Given the description of an element on the screen output the (x, y) to click on. 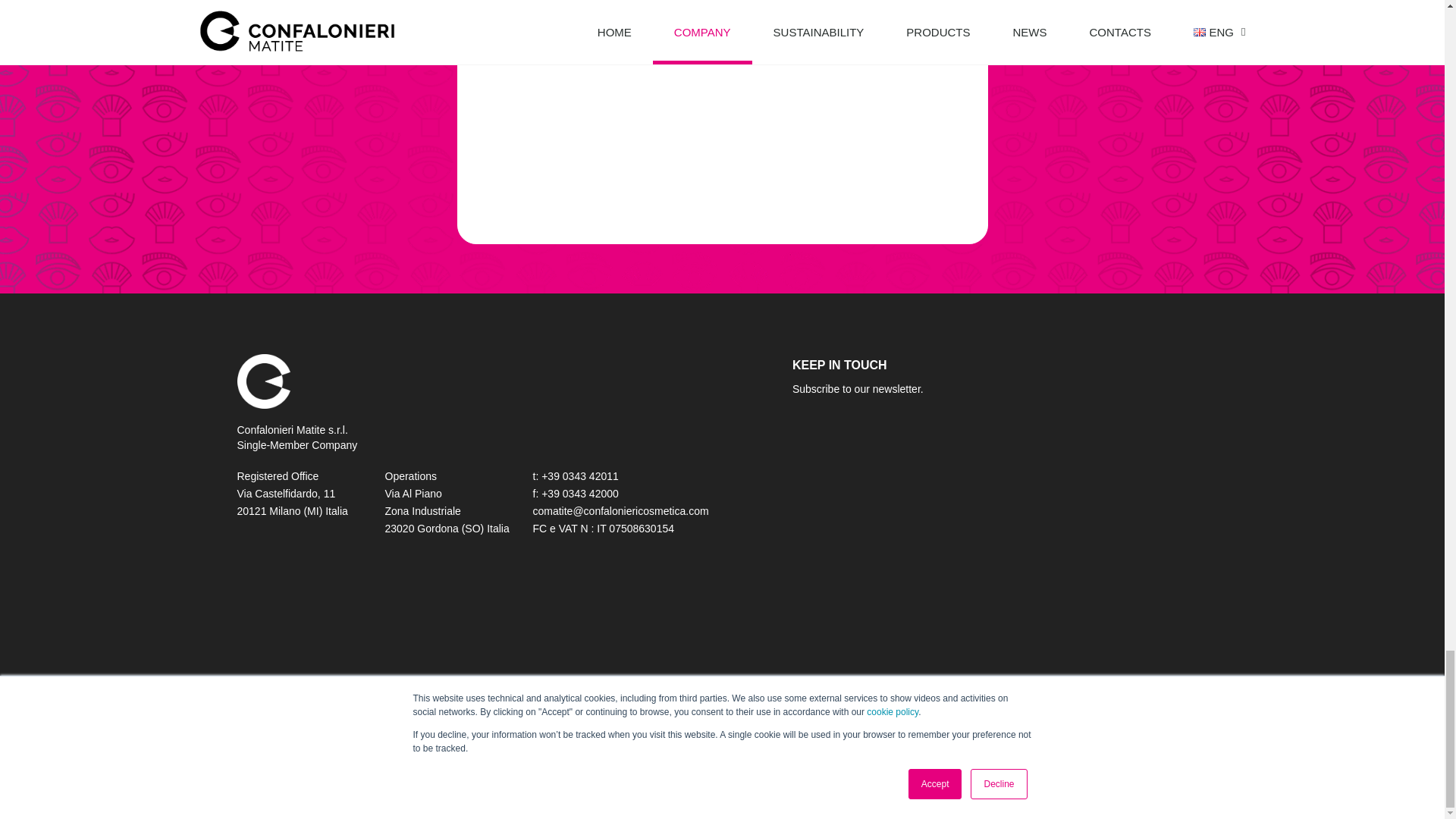
Form 1 (721, 108)
Form 0 (1000, 564)
